Given the description of an element on the screen output the (x, y) to click on. 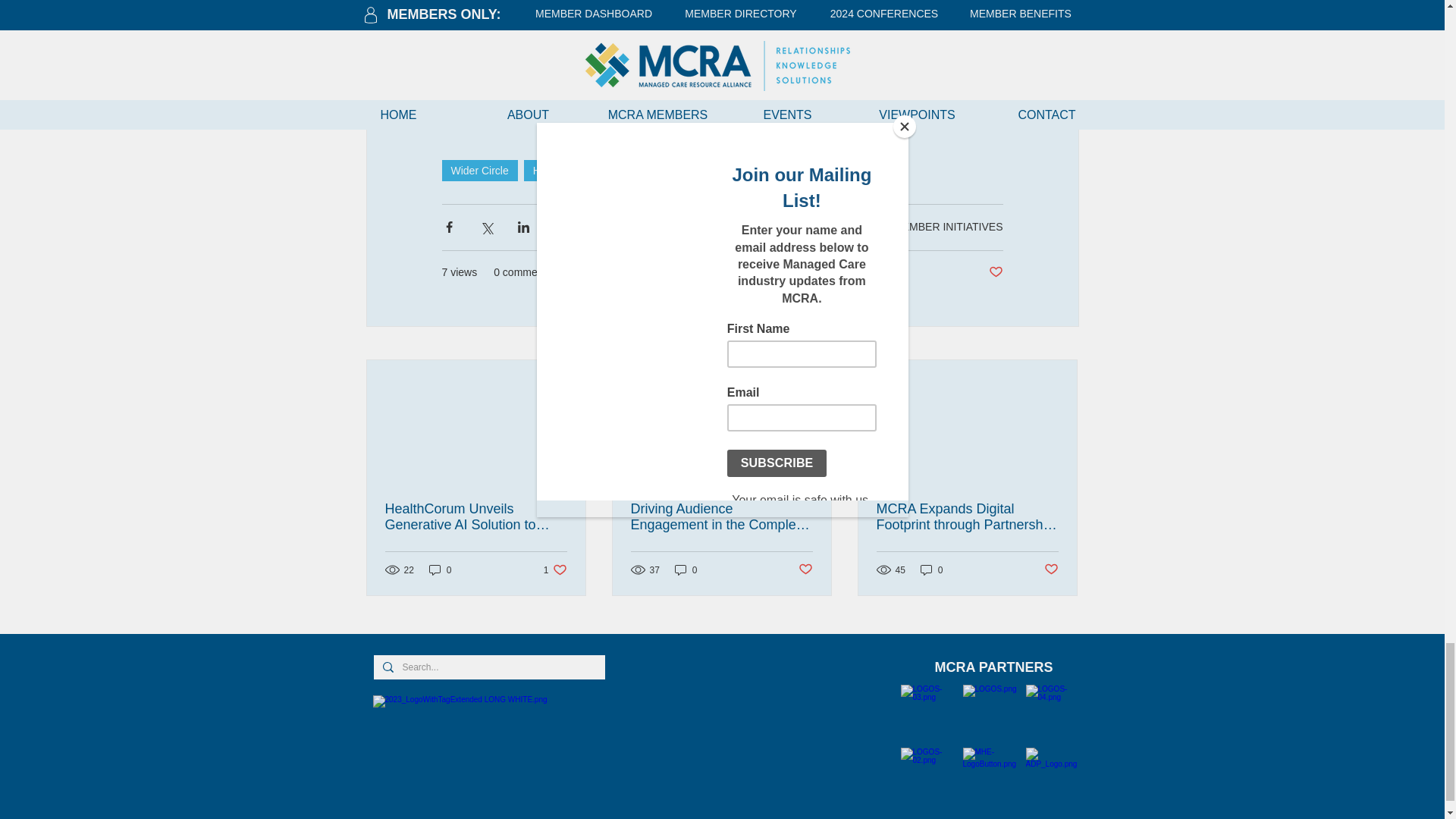
0 (440, 569)
Post not marked as liked (995, 272)
MEMBER INITIATIVES (948, 226)
Wider Circle (555, 569)
NCQA (478, 169)
Health Equity (635, 169)
